Given the description of an element on the screen output the (x, y) to click on. 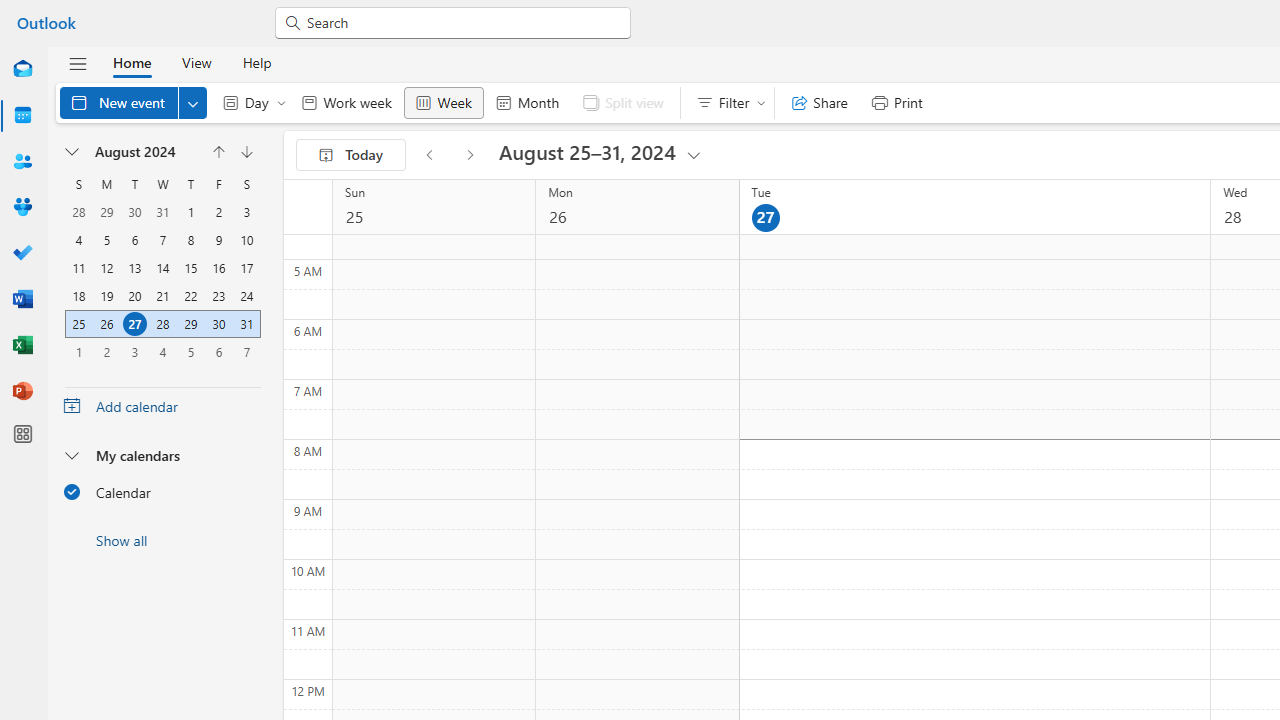
16, August, 2024 (218, 268)
1, September, 2024 (79, 351)
Calendar (162, 491)
Go to today August 27, 2024 (350, 154)
2, August, 2024 (218, 212)
15, August, 2024 (191, 268)
14, August, 2024 (163, 268)
11, August, 2024 (79, 268)
19, August, 2024 (106, 295)
August 2024, select to change the month (144, 152)
3, September, 2024 (134, 351)
10, August, 2024 (246, 239)
2, September, 2024 (107, 351)
Sunday (79, 183)
Expand to see more New options (192, 102)
